Given the description of an element on the screen output the (x, y) to click on. 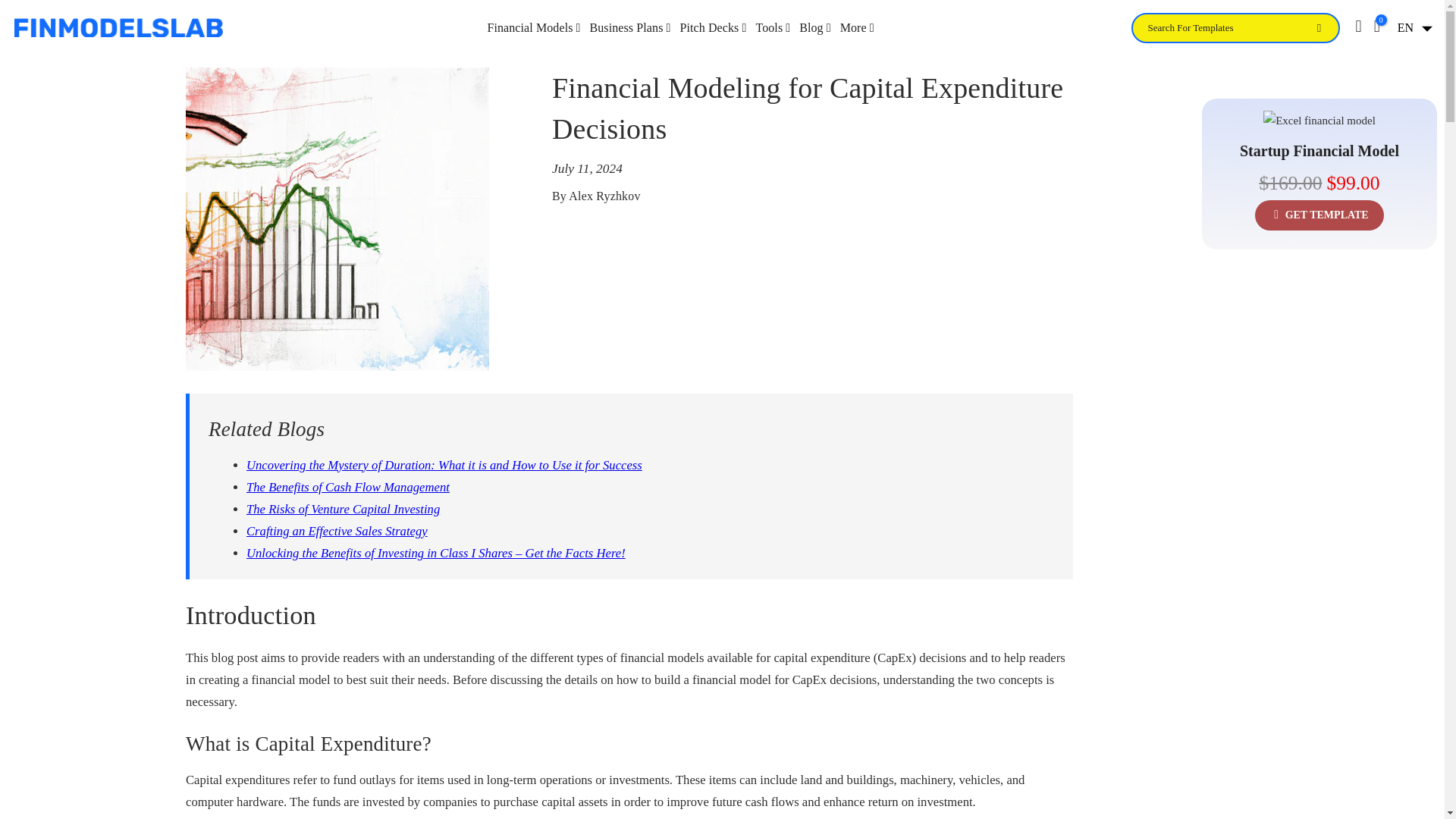
Financial Models (533, 27)
Tools (772, 27)
Pitch Decks (713, 27)
Crafting an Effective Sales Strategy (337, 531)
The Risks of Venture Capital Investing (342, 509)
More (857, 27)
GET TEMPLATE (1319, 214)
EN (1412, 28)
The Benefits of Cash Flow Management (347, 486)
